Given the description of an element on the screen output the (x, y) to click on. 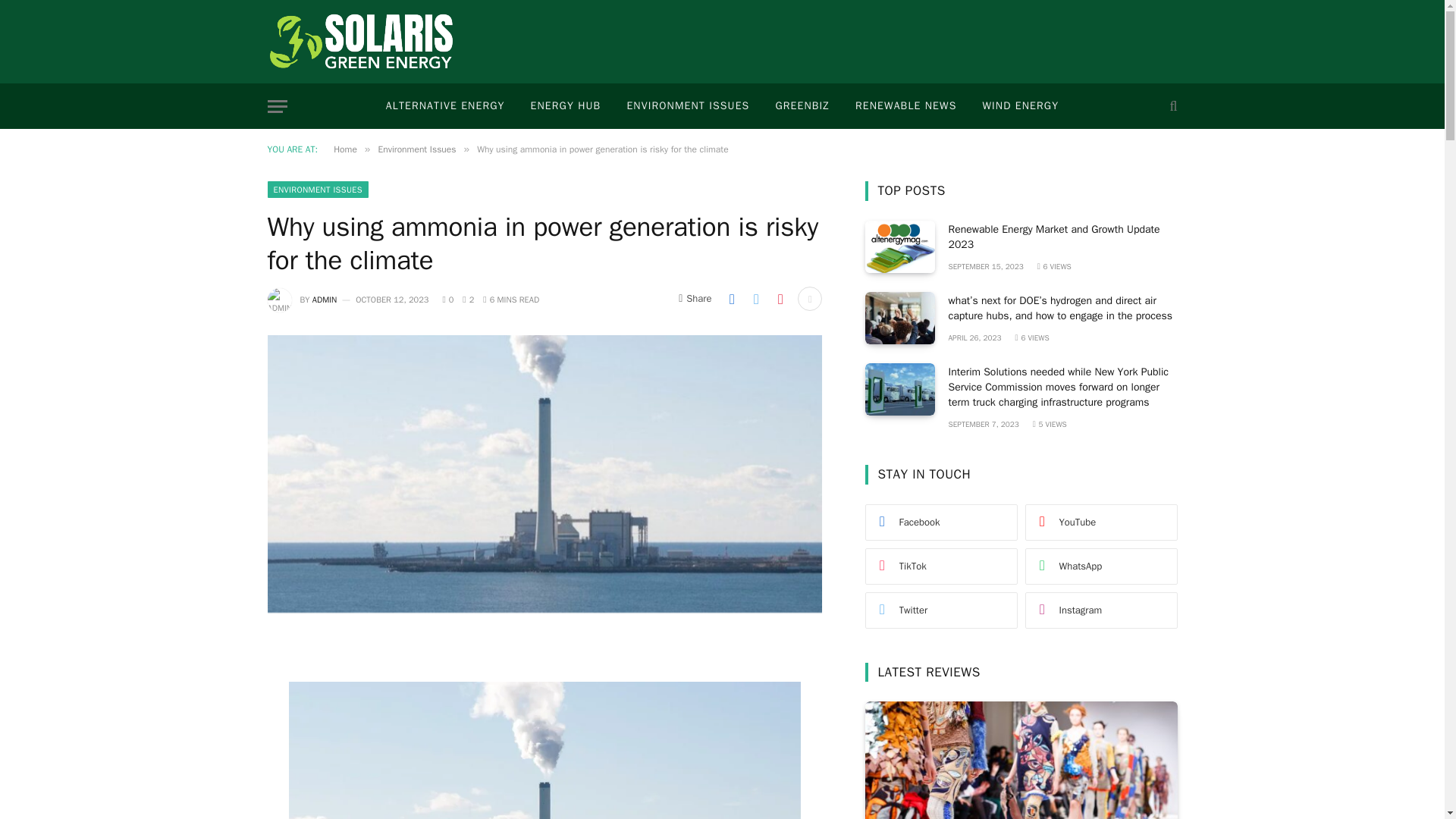
ENERGY HUB (566, 105)
GREENBIZ (802, 105)
Share on Pinterest (780, 298)
Share on Facebook (731, 298)
Share on Twitter (755, 298)
ADMIN (325, 299)
Posts by admin (325, 299)
Home (344, 149)
2 Article Views (468, 299)
ENVIRONMENT ISSUES (317, 189)
0 (447, 299)
ALTERNATIVE ENERGY (445, 105)
RENEWABLE NEWS (906, 105)
ENVIRONMENT ISSUES (686, 105)
Environment Issues (416, 149)
